Given the description of an element on the screen output the (x, y) to click on. 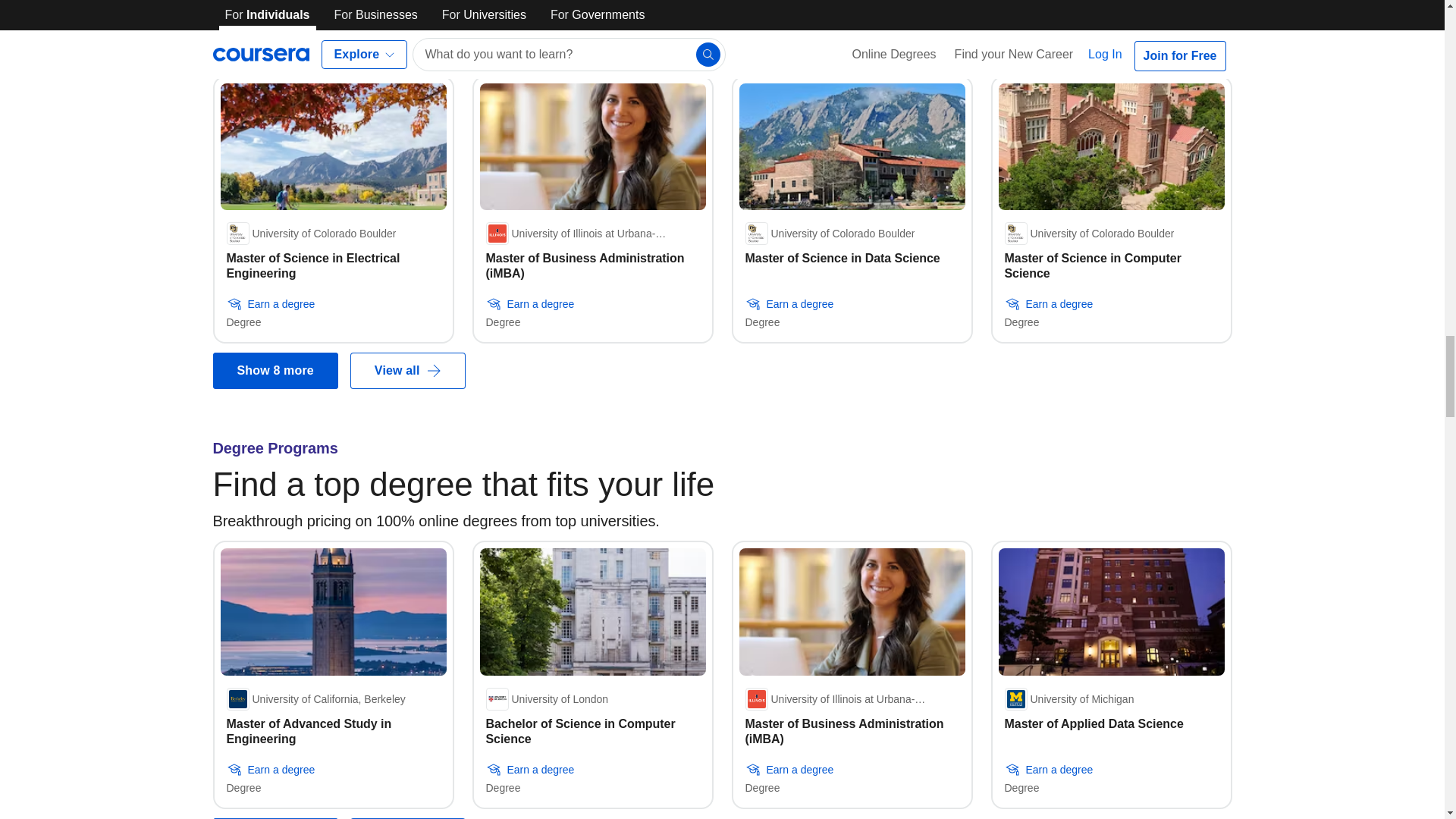
University of Colorado Boulder (829, 232)
University of Colorado Boulder (310, 232)
University of Colorado Boulder (1088, 232)
University of California, Berkeley (314, 698)
University of Illinois at Urbana-Champaign (591, 232)
